Given the description of an element on the screen output the (x, y) to click on. 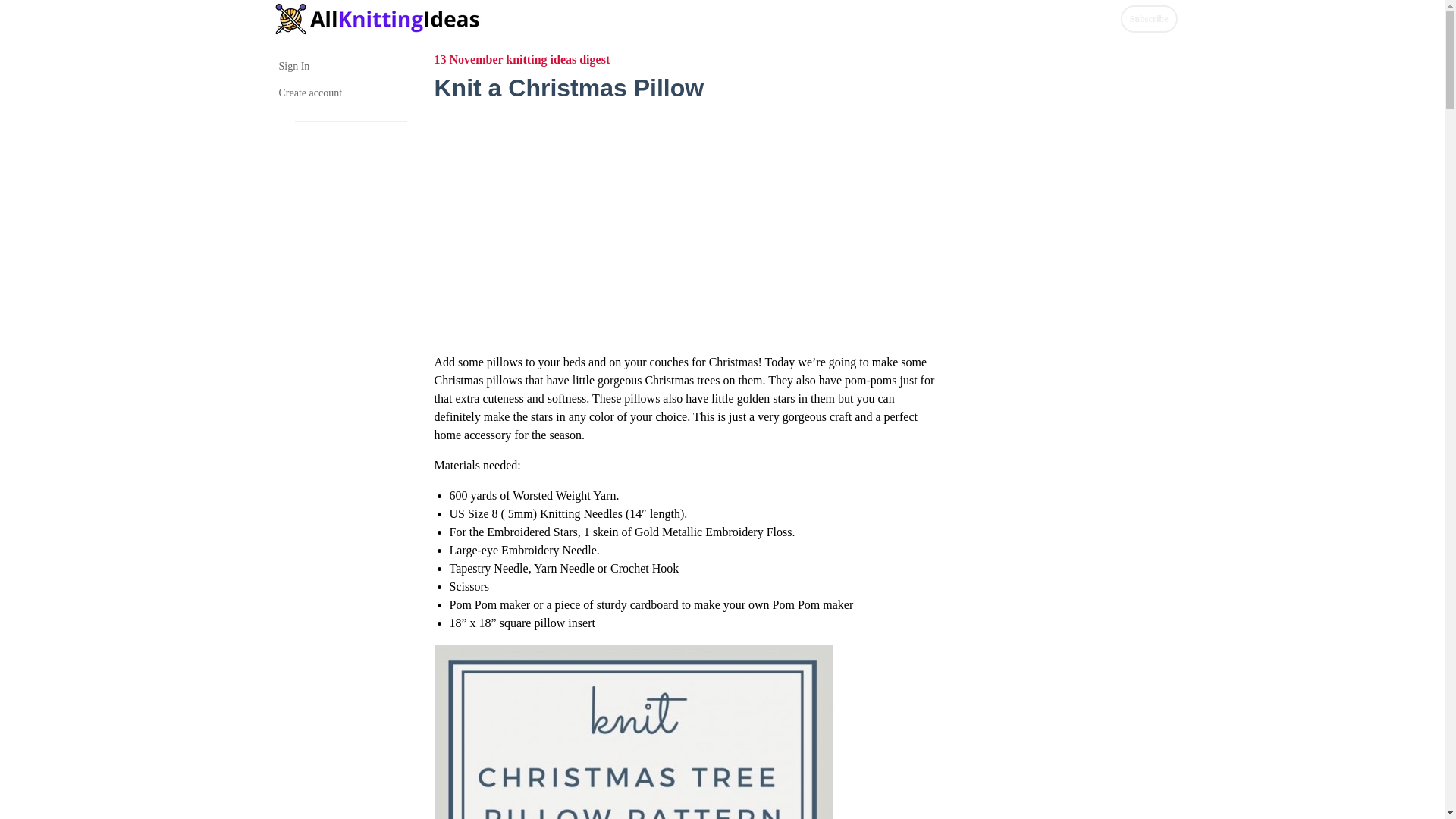
Advertisement (683, 219)
Sign In (342, 66)
Subscribe (1149, 18)
Sign In (342, 66)
Create account (342, 92)
Subscribe (1149, 18)
Create account (342, 92)
13 November knitting ideas digest (521, 59)
